Given the description of an element on the screen output the (x, y) to click on. 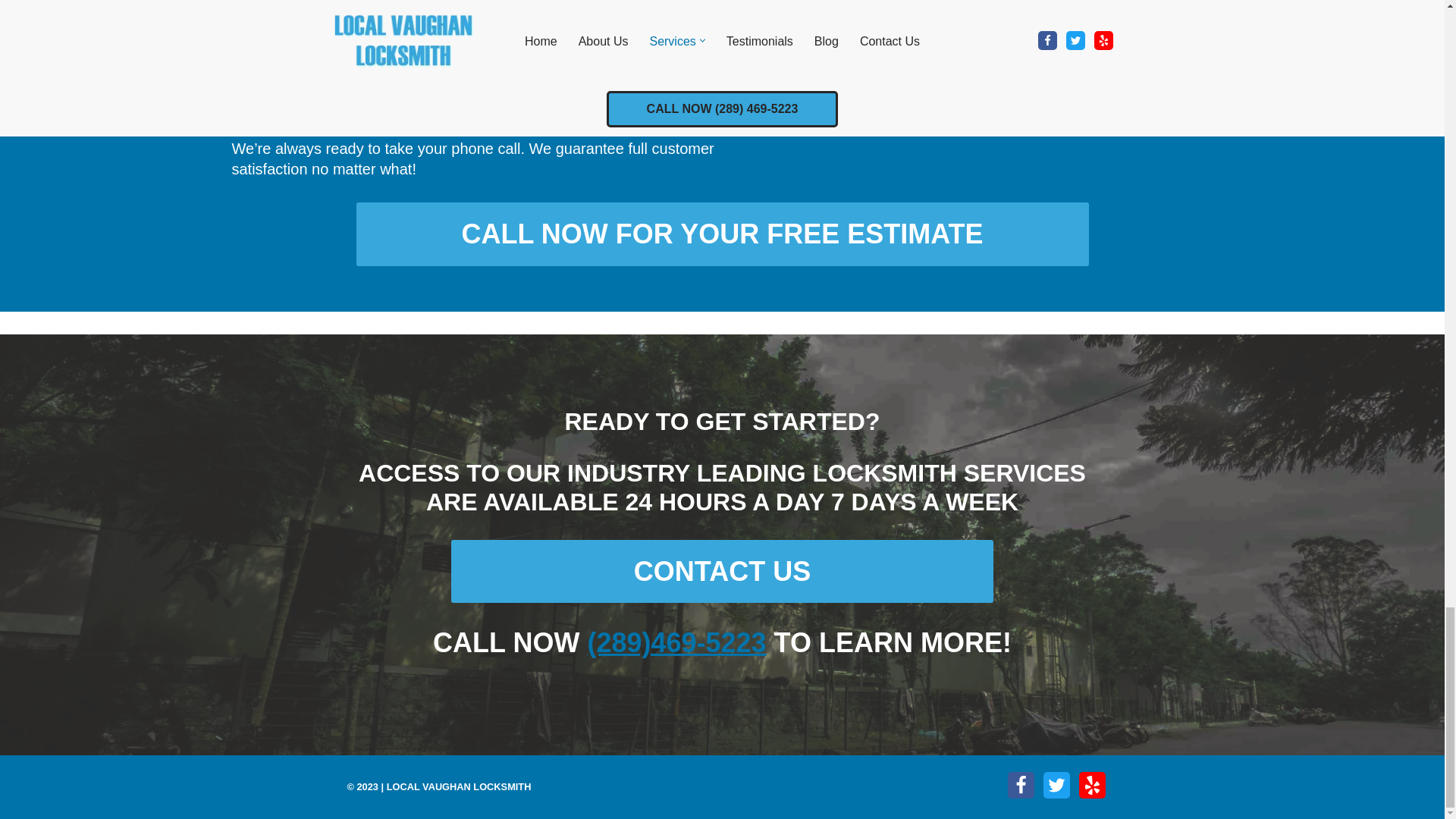
CALL NOW FOR YOUR FREE ESTIMATE (722, 234)
Facebook (1020, 785)
Yelp (1091, 785)
Twitter (1056, 785)
CONTACT US (722, 571)
LOCAL VAUGHAN LOCKSMITH (459, 786)
